Given the description of an element on the screen output the (x, y) to click on. 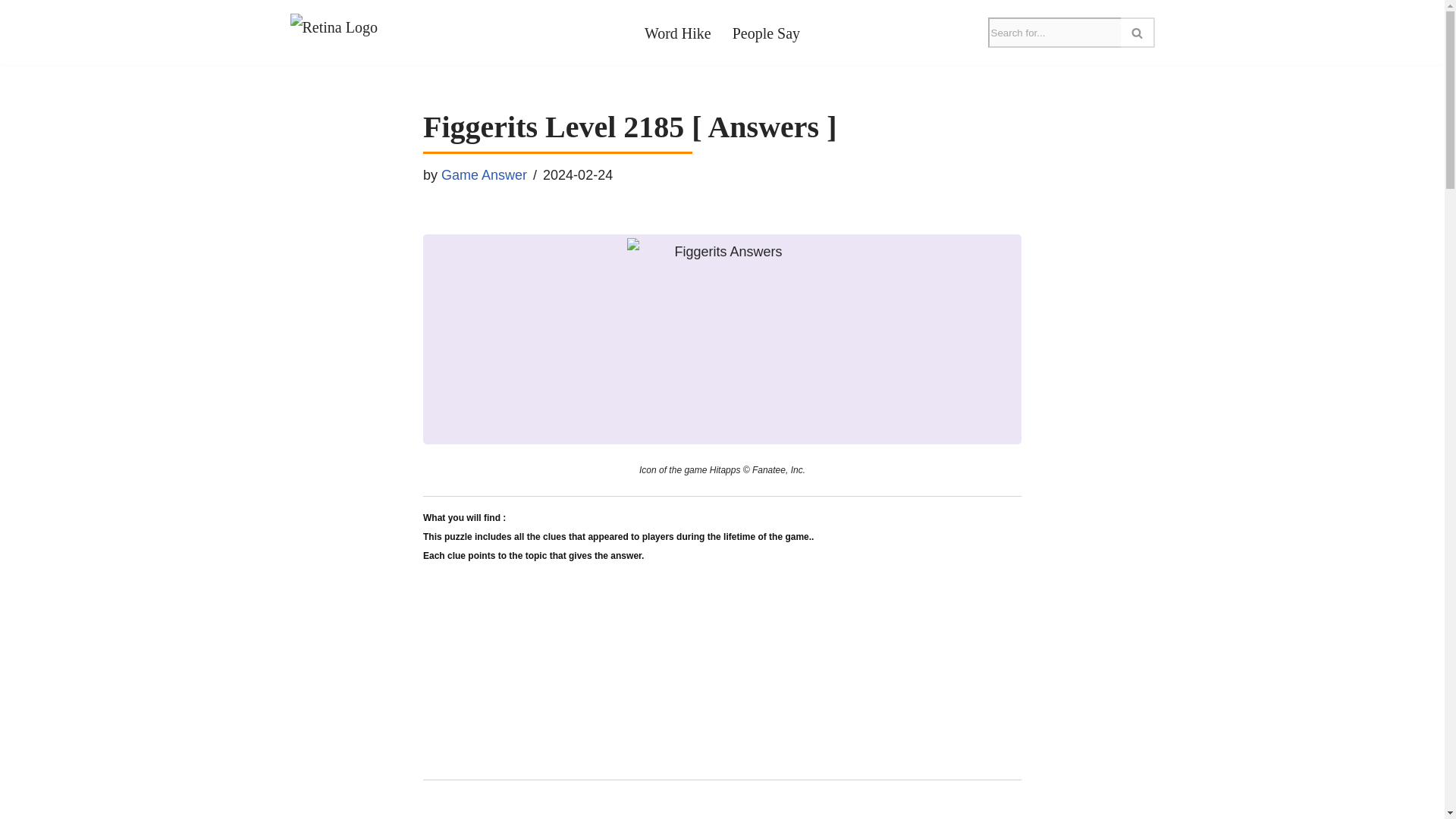
Word Hike (678, 32)
Posts by Game Answer (484, 174)
Word Hike (678, 32)
Skip to content (11, 31)
Game Answer (484, 174)
People Say (765, 32)
